Given the description of an element on the screen output the (x, y) to click on. 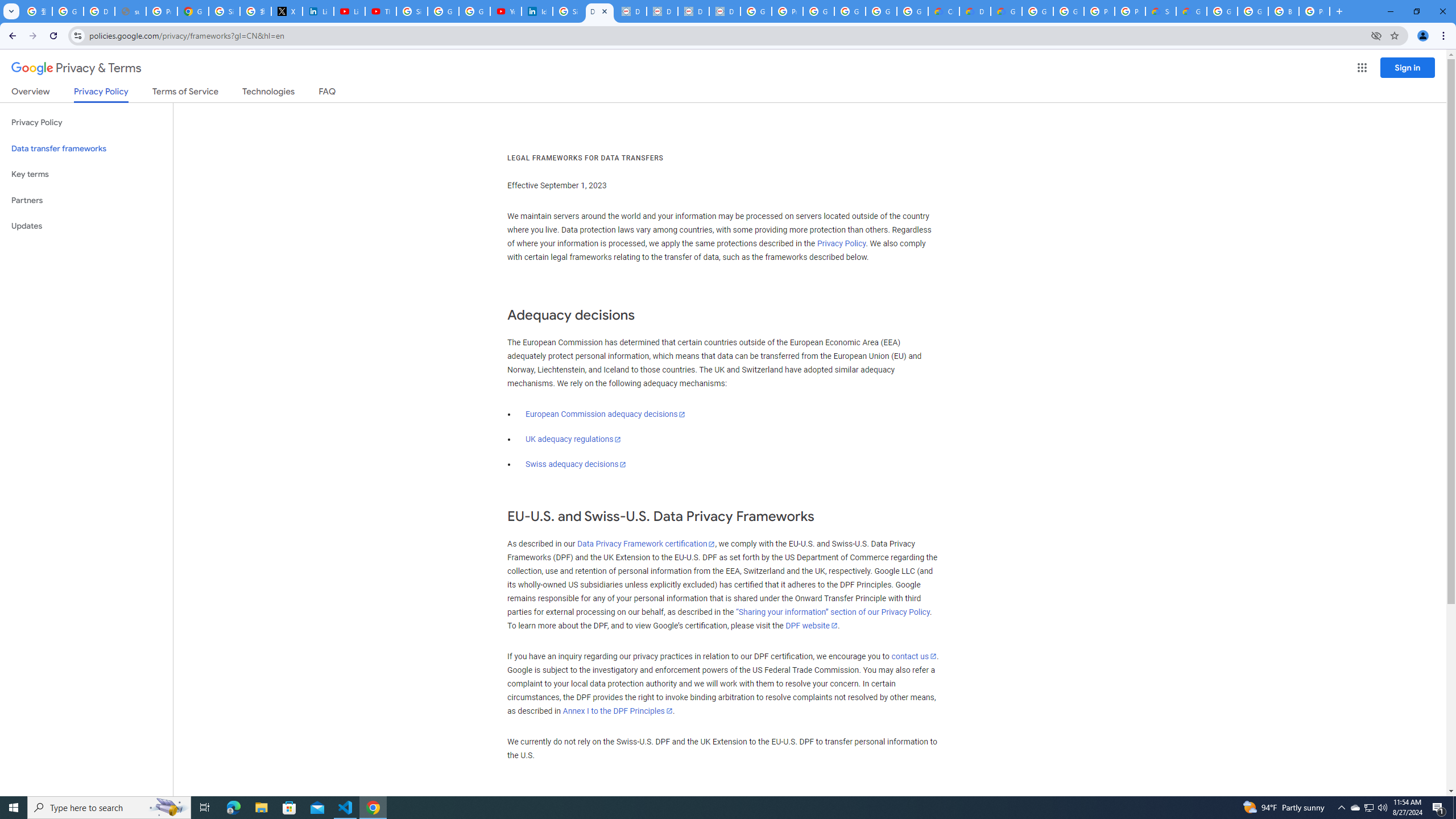
support.google.com - Network error (130, 11)
LinkedIn Privacy Policy (318, 11)
Annex I to the DPF Principles (617, 710)
Customer Care | Google Cloud (943, 11)
LinkedIn - YouTube (349, 11)
